Given the description of an element on the screen output the (x, y) to click on. 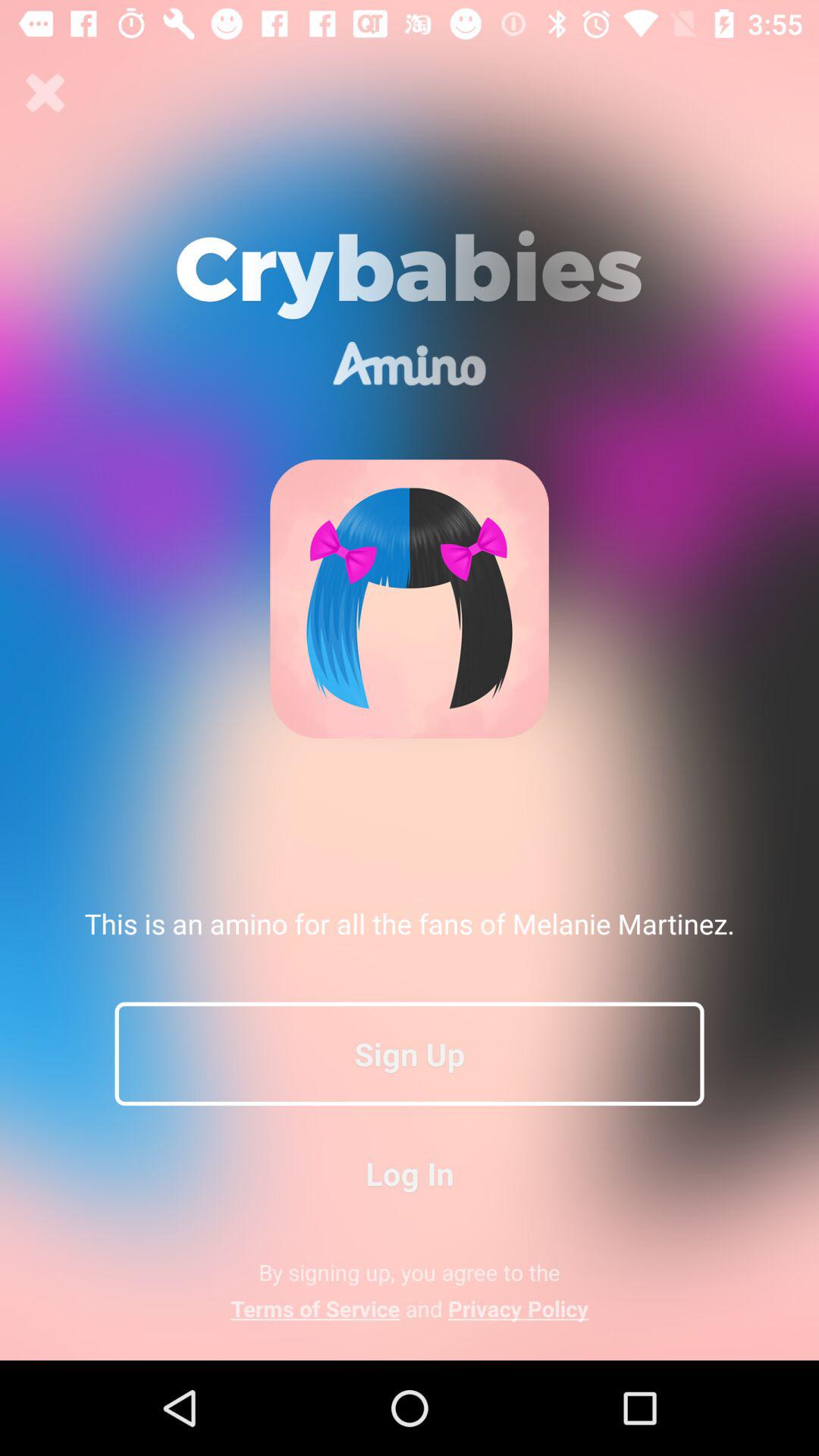
cancel page (45, 93)
